Given the description of an element on the screen output the (x, y) to click on. 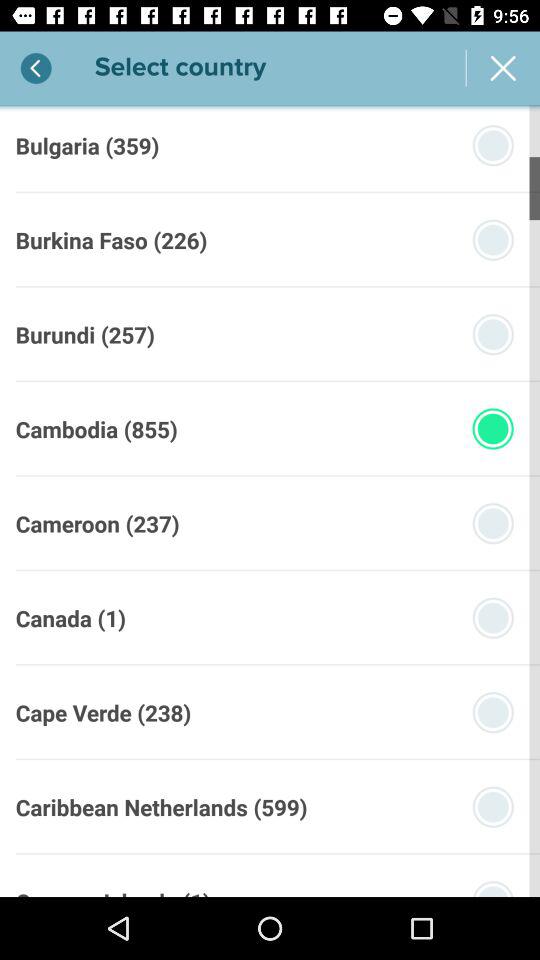
move back (36, 67)
